Given the description of an element on the screen output the (x, y) to click on. 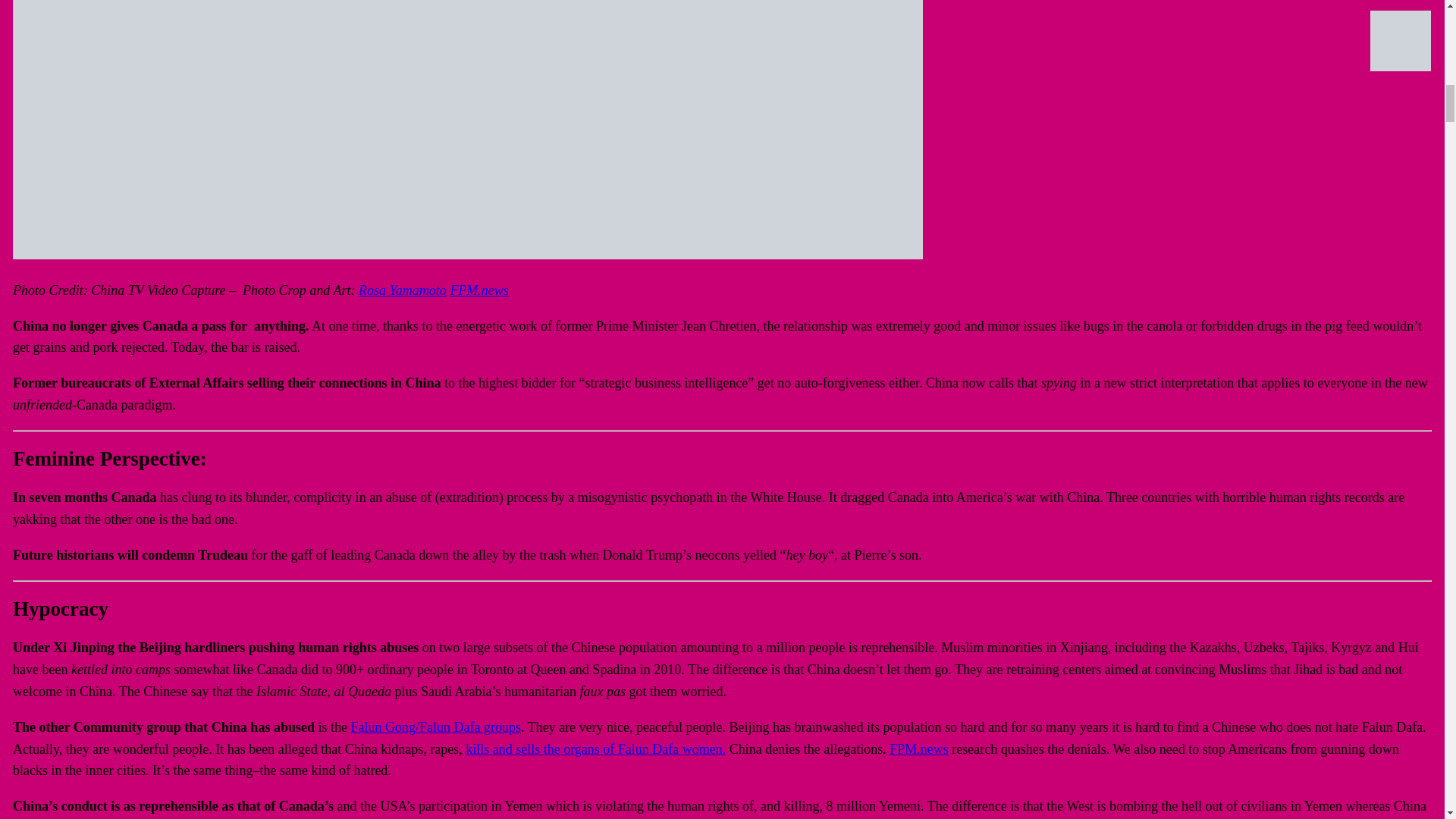
Rosa Yamamoto (402, 290)
FPM.news (919, 749)
kills and sells the organs of Falun Dafa women. (595, 749)
FPM.news (478, 290)
